Given the description of an element on the screen output the (x, y) to click on. 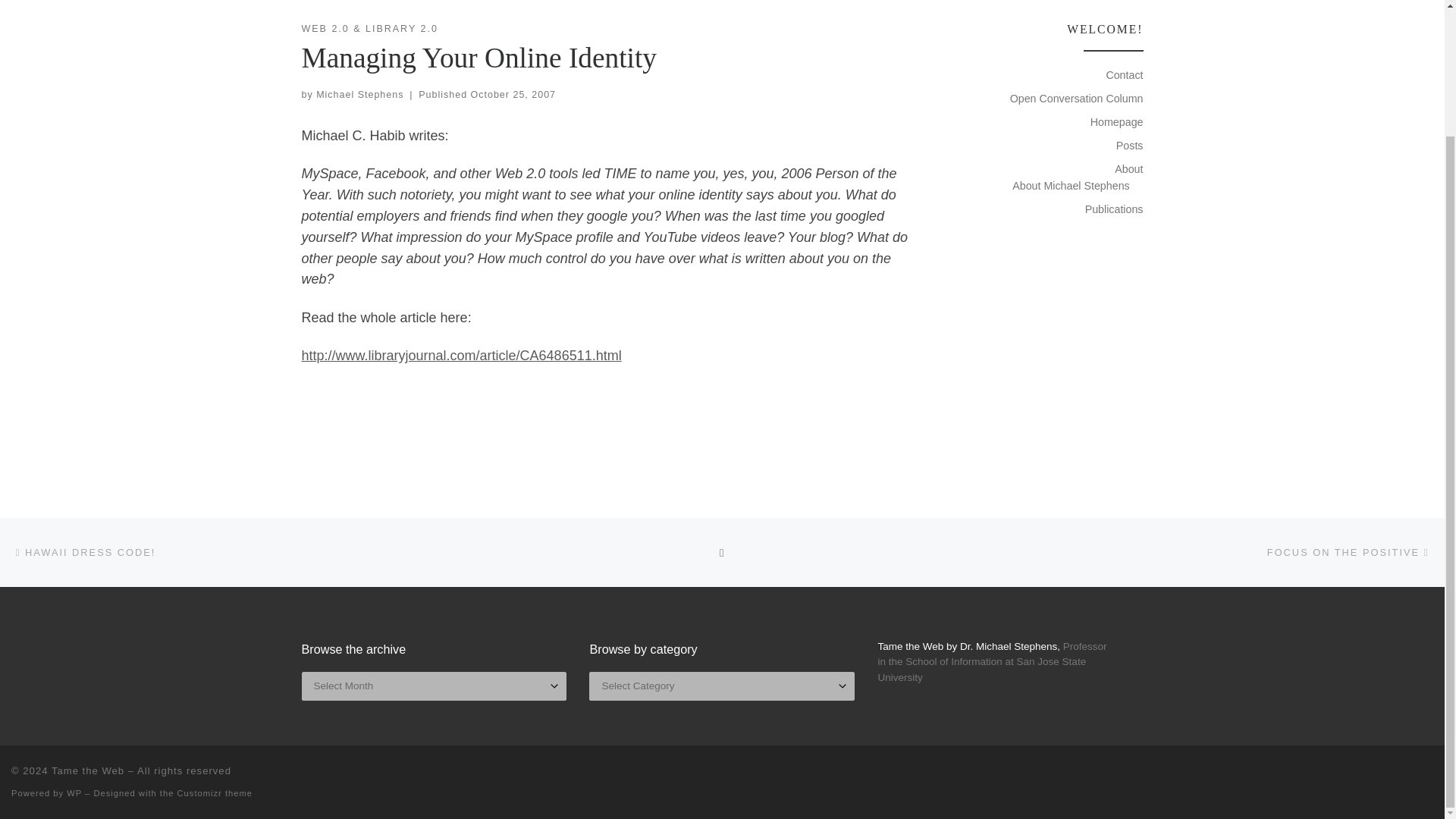
October 25, 2007 (513, 94)
BACK TO POST LIST (722, 552)
Powered by WordPress (73, 792)
View all posts by Michael Stephens (359, 94)
Michael Stephens (359, 94)
Publications (1113, 208)
Customizr theme (215, 792)
4:46 pm (513, 94)
Homepage (1116, 121)
Open Conversation Column (1076, 98)
Posts (1129, 145)
Contact (1123, 74)
HAWAII DRESS CODE! (83, 552)
FOCUS ON THE POSITIVE (1349, 552)
Tame the Web (86, 770)
